Given the description of an element on the screen output the (x, y) to click on. 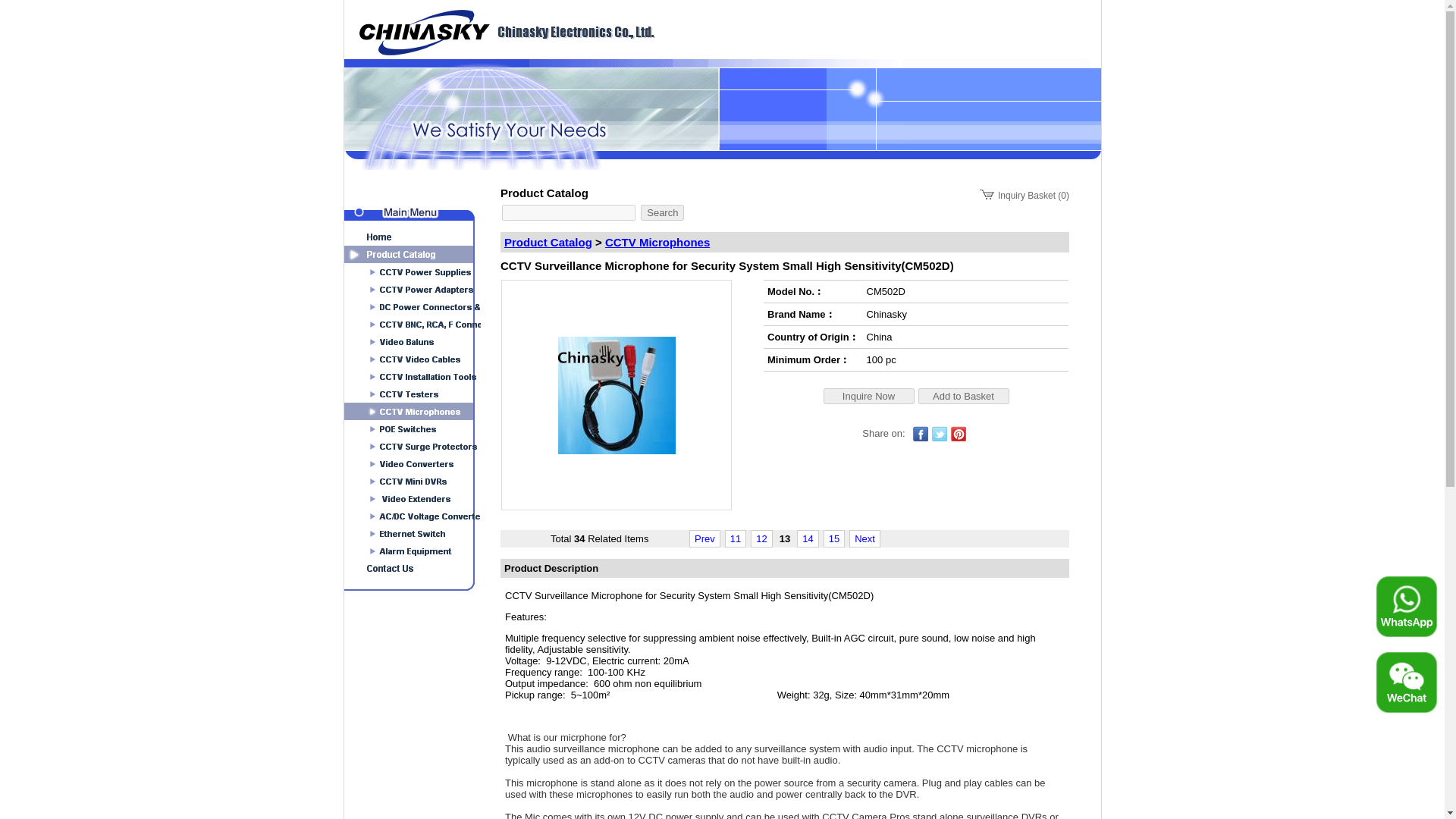
Search (662, 212)
14 (807, 538)
Add to Basket (963, 396)
Whatsapp (1406, 606)
15 (834, 538)
Facebook (920, 433)
Search (662, 212)
Wechat (1406, 681)
Pinterest (958, 433)
Twitter (939, 433)
12 (761, 538)
11 (735, 538)
Product Catalog (547, 241)
CCTV Microphones (657, 241)
Inquire Now (869, 396)
